Given the description of an element on the screen output the (x, y) to click on. 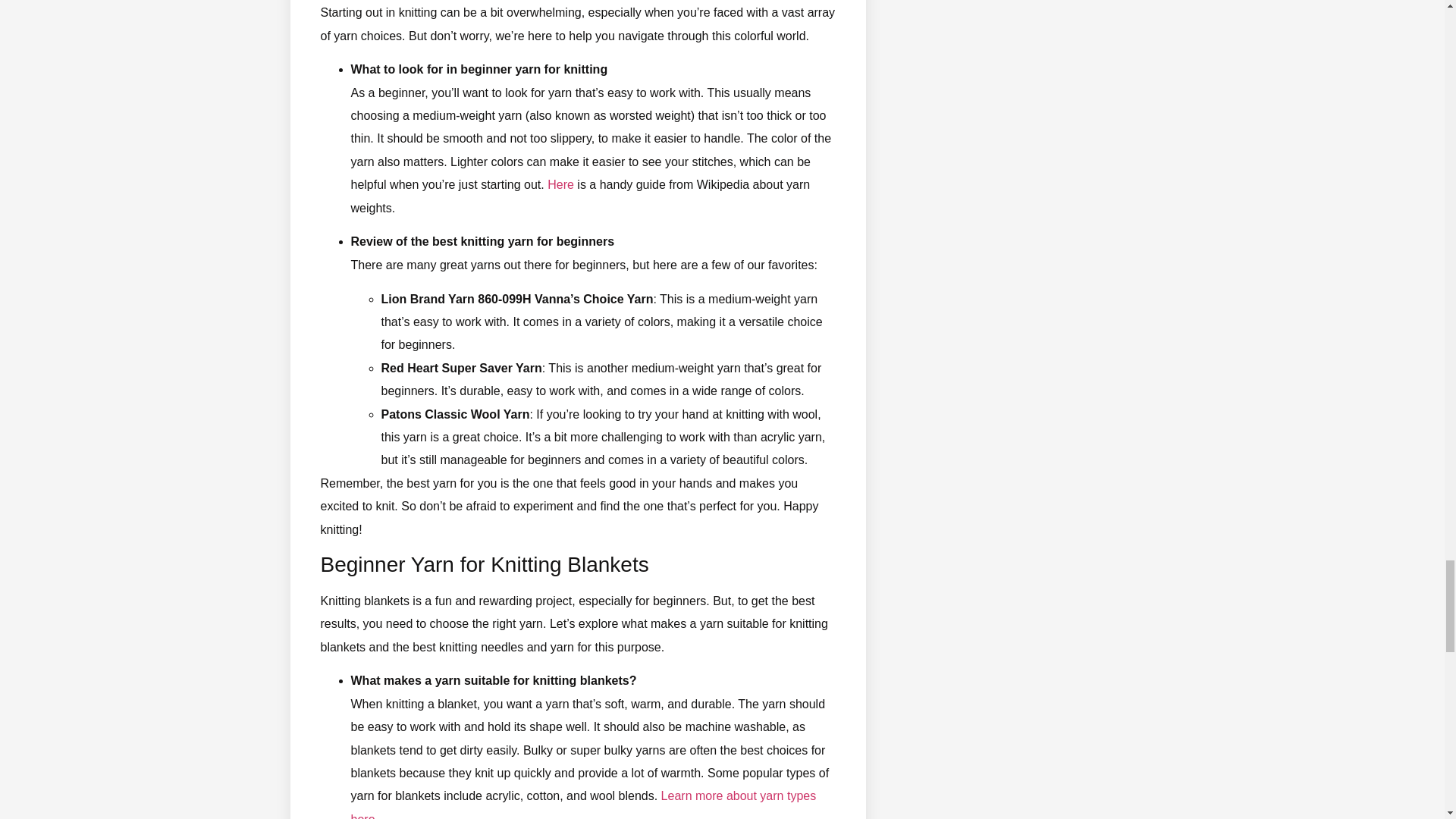
Here (560, 184)
Learn more about yarn types here. (582, 804)
